Given the description of an element on the screen output the (x, y) to click on. 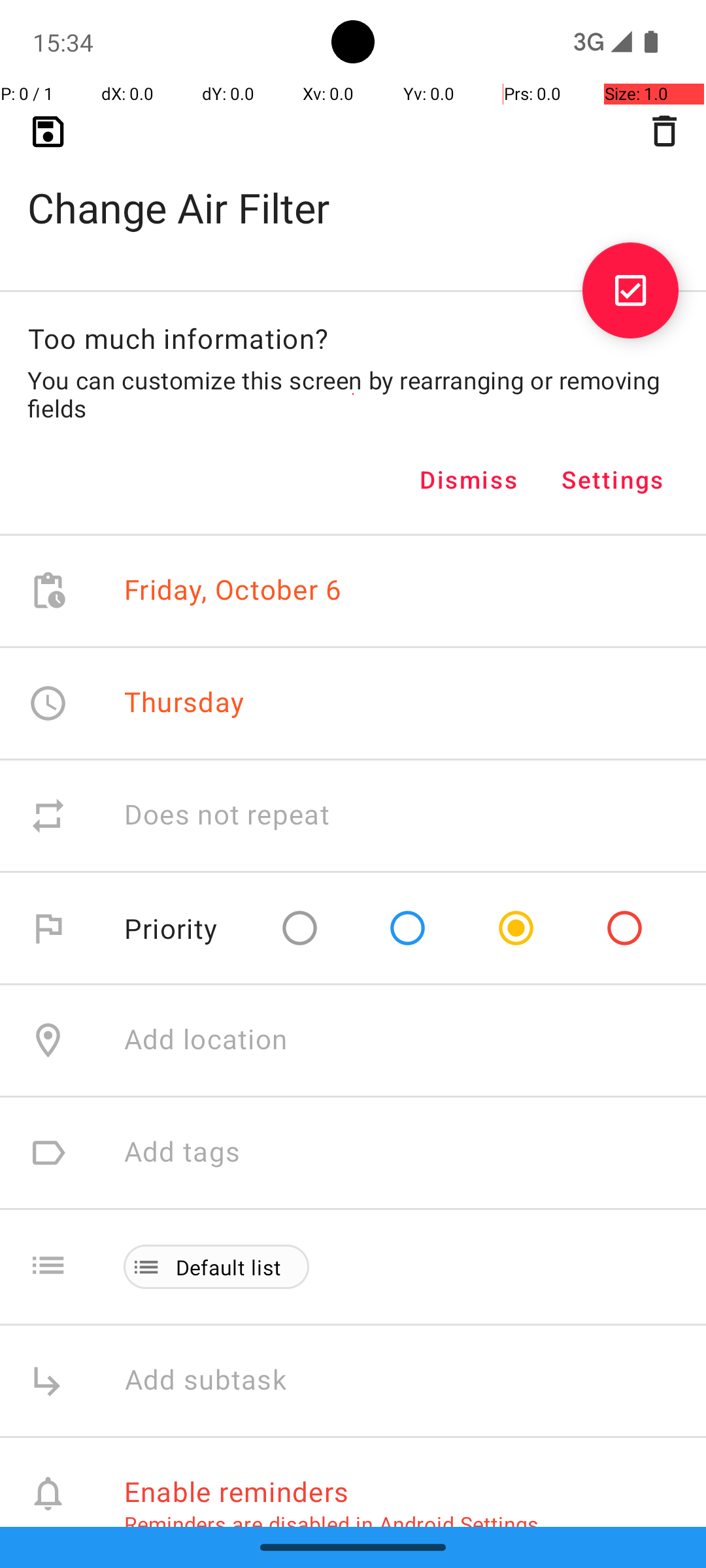
Friday, October 6 Element type: android.widget.TextView (232, 590)
